Given the description of an element on the screen output the (x, y) to click on. 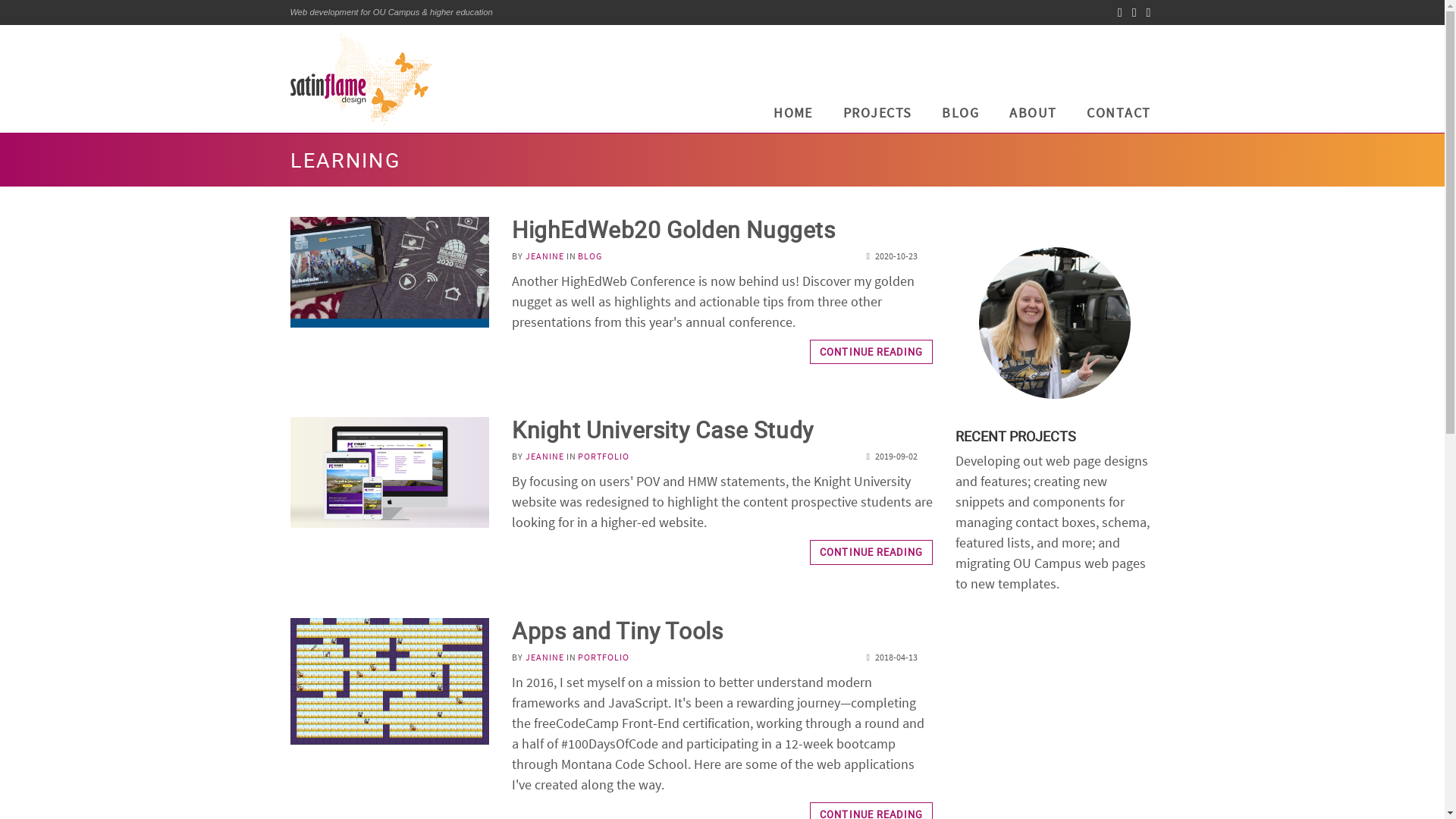
PORTFOLIO (603, 455)
Apps and Tiny Tools (617, 630)
PORTFOLIO (603, 656)
PROJECTS (877, 110)
BLOG (960, 110)
CONTACT (871, 810)
HOME (1117, 110)
2019-09-02 (793, 110)
JEANINE (890, 455)
